Given the description of an element on the screen output the (x, y) to click on. 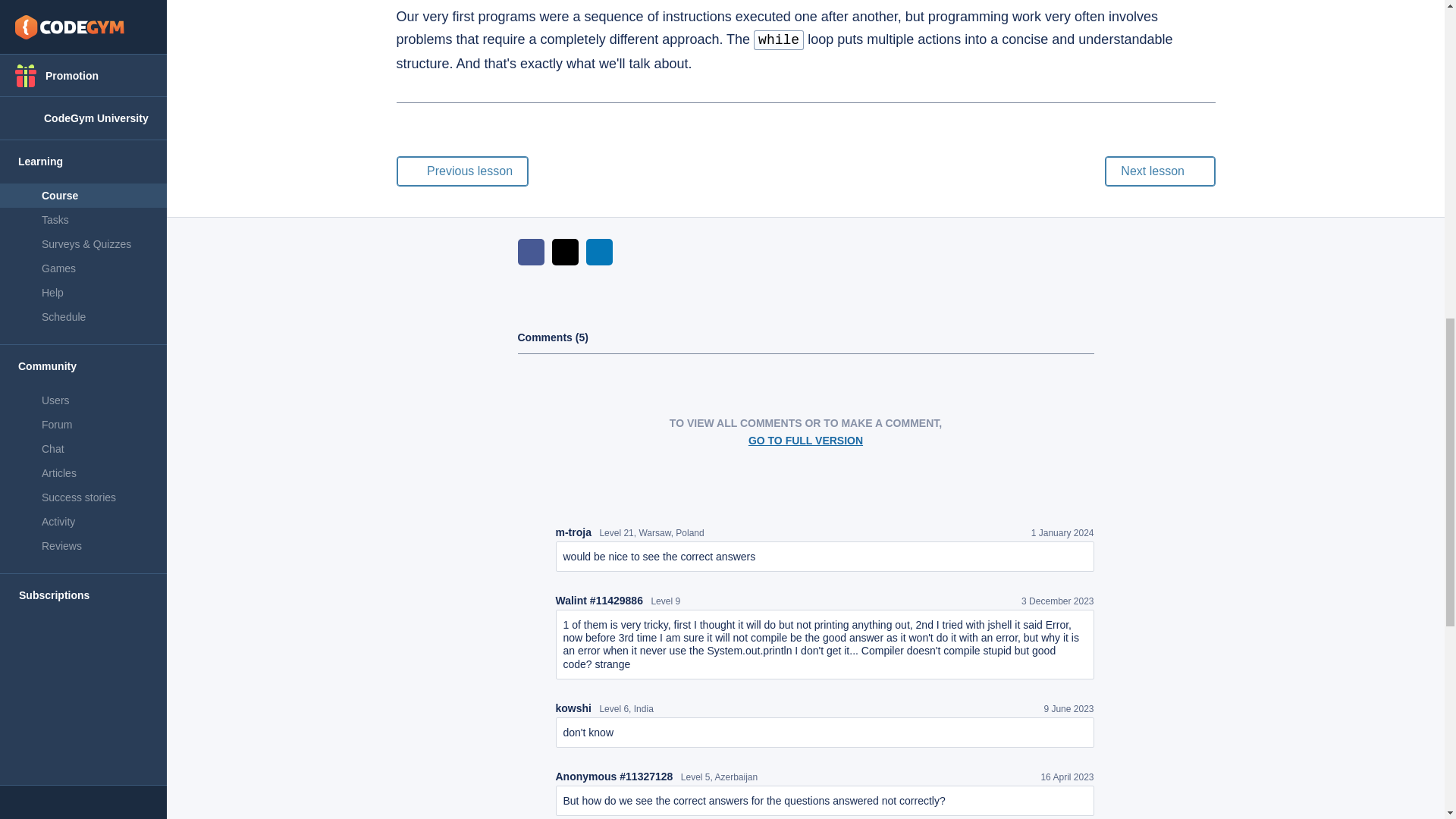
GO TO FULL VERSION (805, 440)
Previous lesson (462, 171)
m-troja (572, 532)
Next lesson (1159, 171)
